Given the description of an element on the screen output the (x, y) to click on. 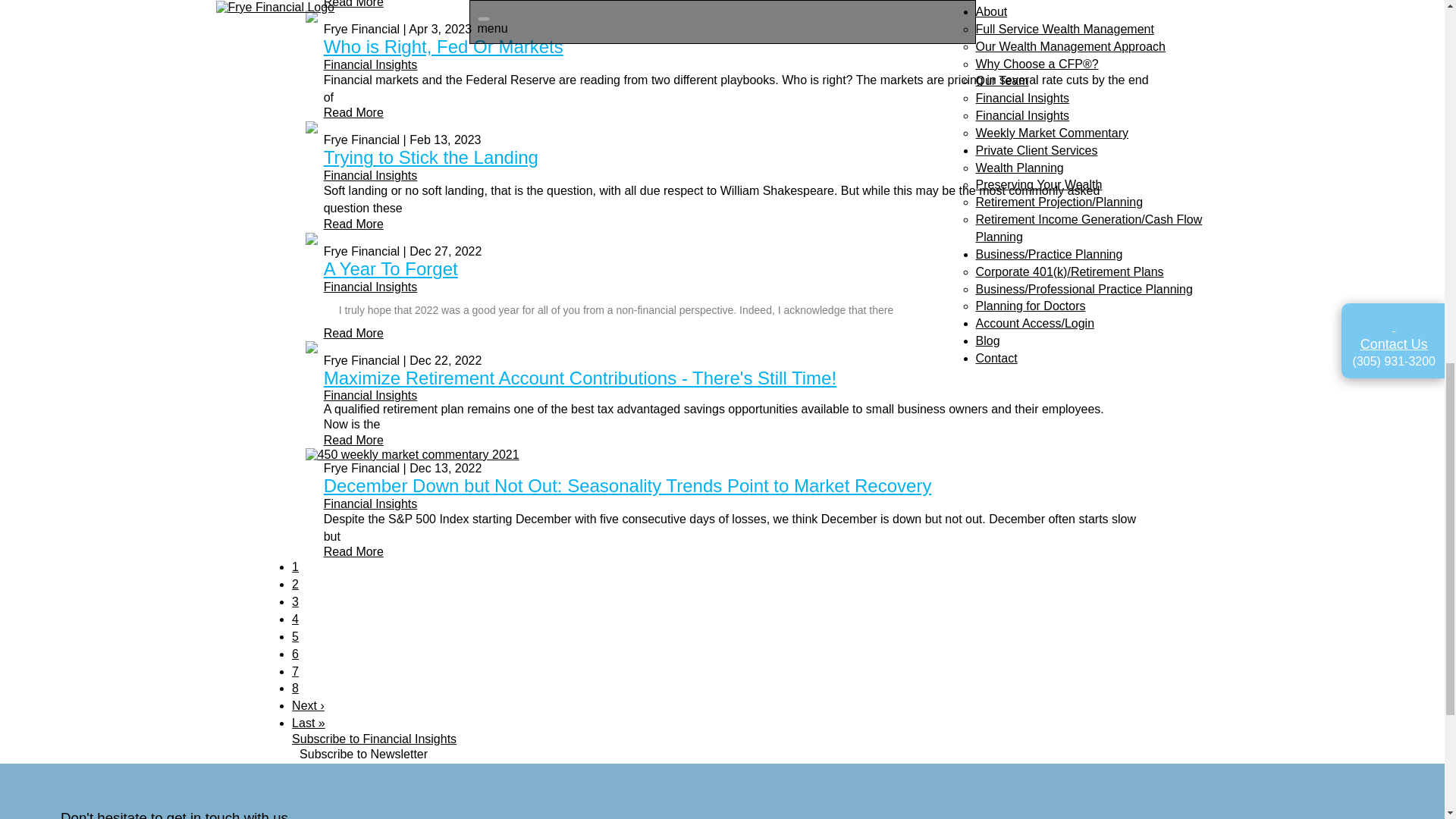
Go to next page (308, 705)
Go to last page (308, 722)
450 weekly market commentary 2021 (412, 454)
